Given the description of an element on the screen output the (x, y) to click on. 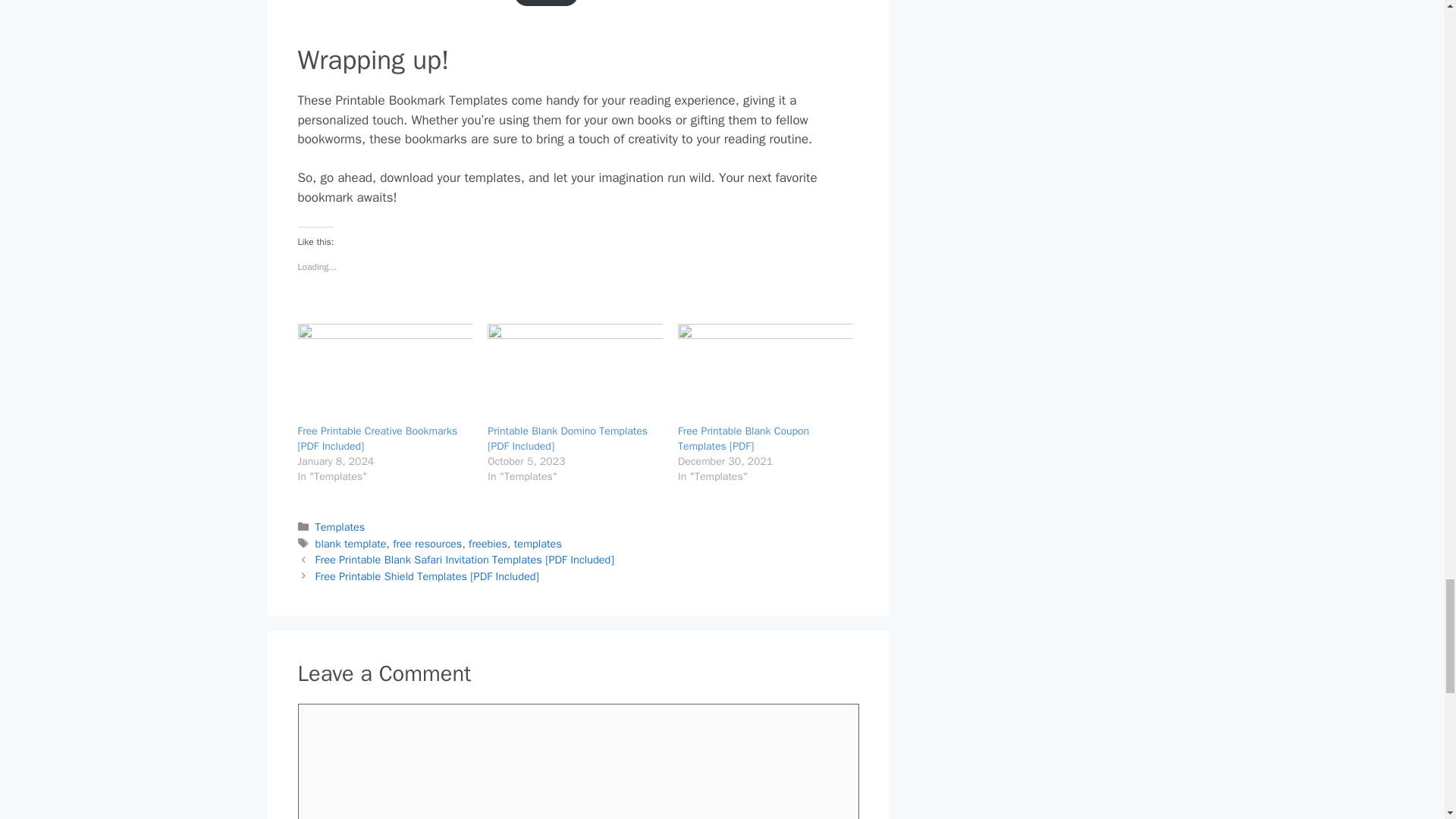
blank template (351, 543)
templates (537, 543)
freebies (487, 543)
free resources (427, 543)
Download (545, 2)
Templates (340, 526)
